Given the description of an element on the screen output the (x, y) to click on. 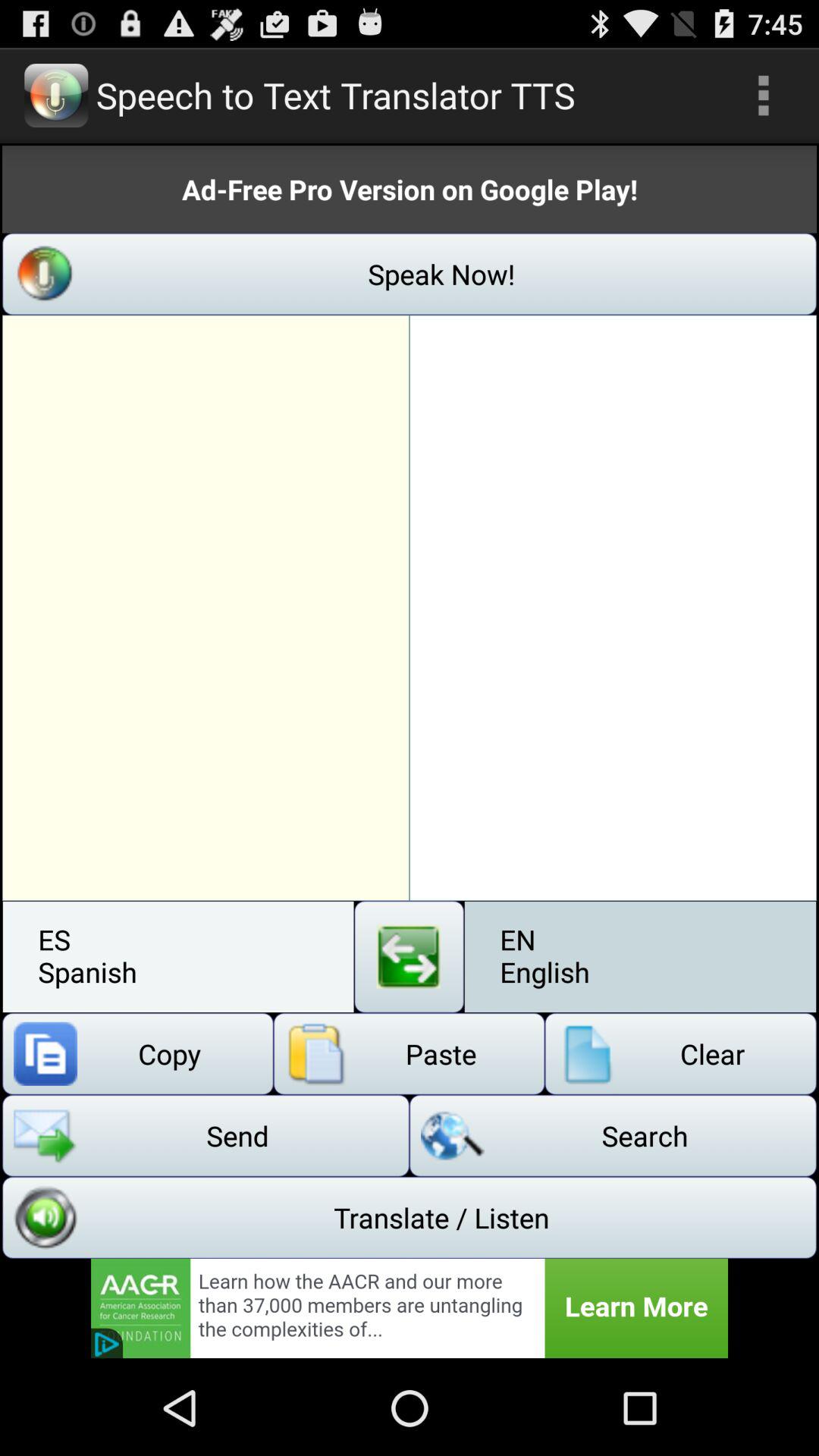
swap languages (409, 956)
